Given the description of an element on the screen output the (x, y) to click on. 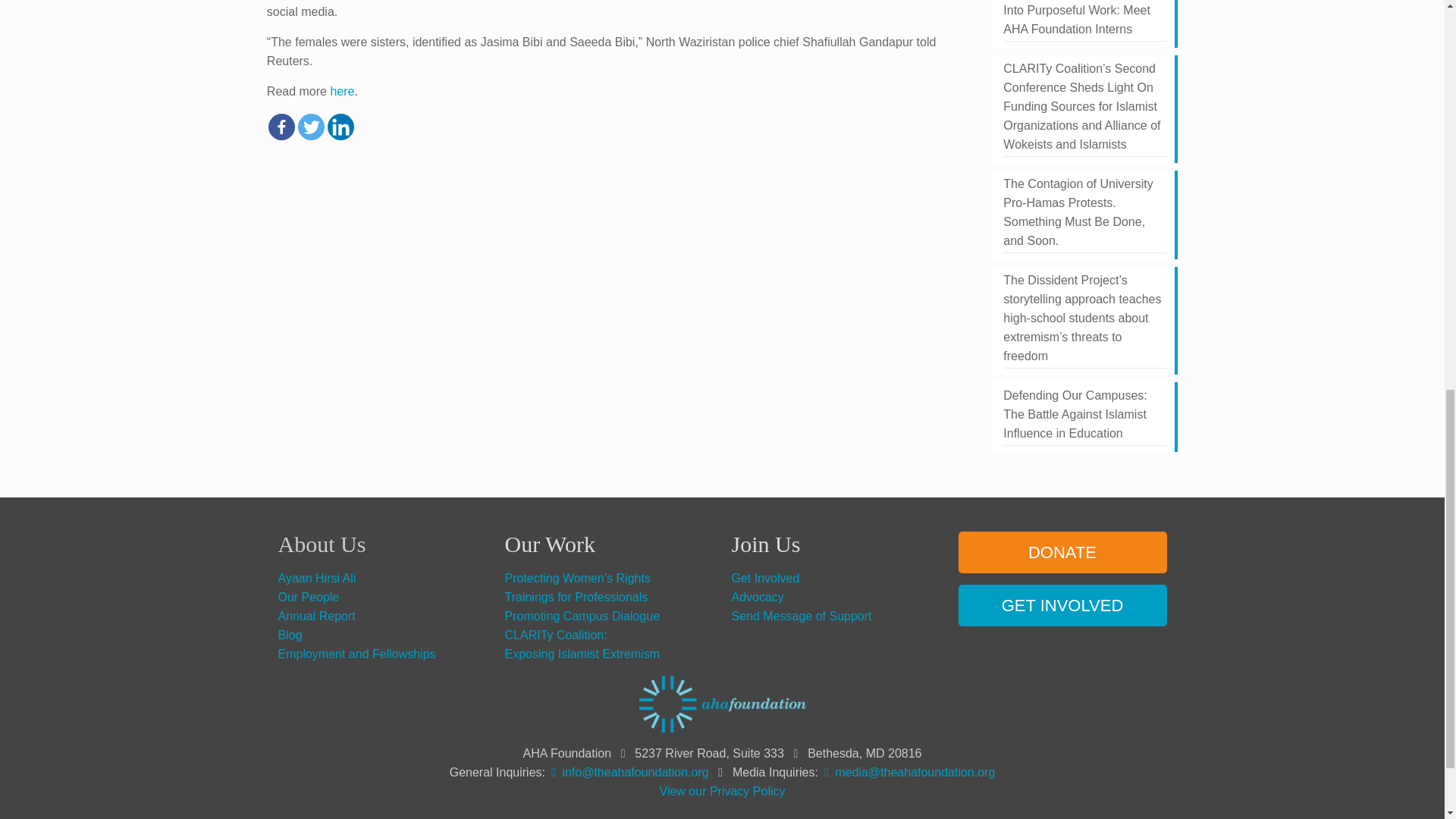
Facebook (281, 126)
Linkedin (340, 126)
Twitter (311, 126)
